Given the description of an element on the screen output the (x, y) to click on. 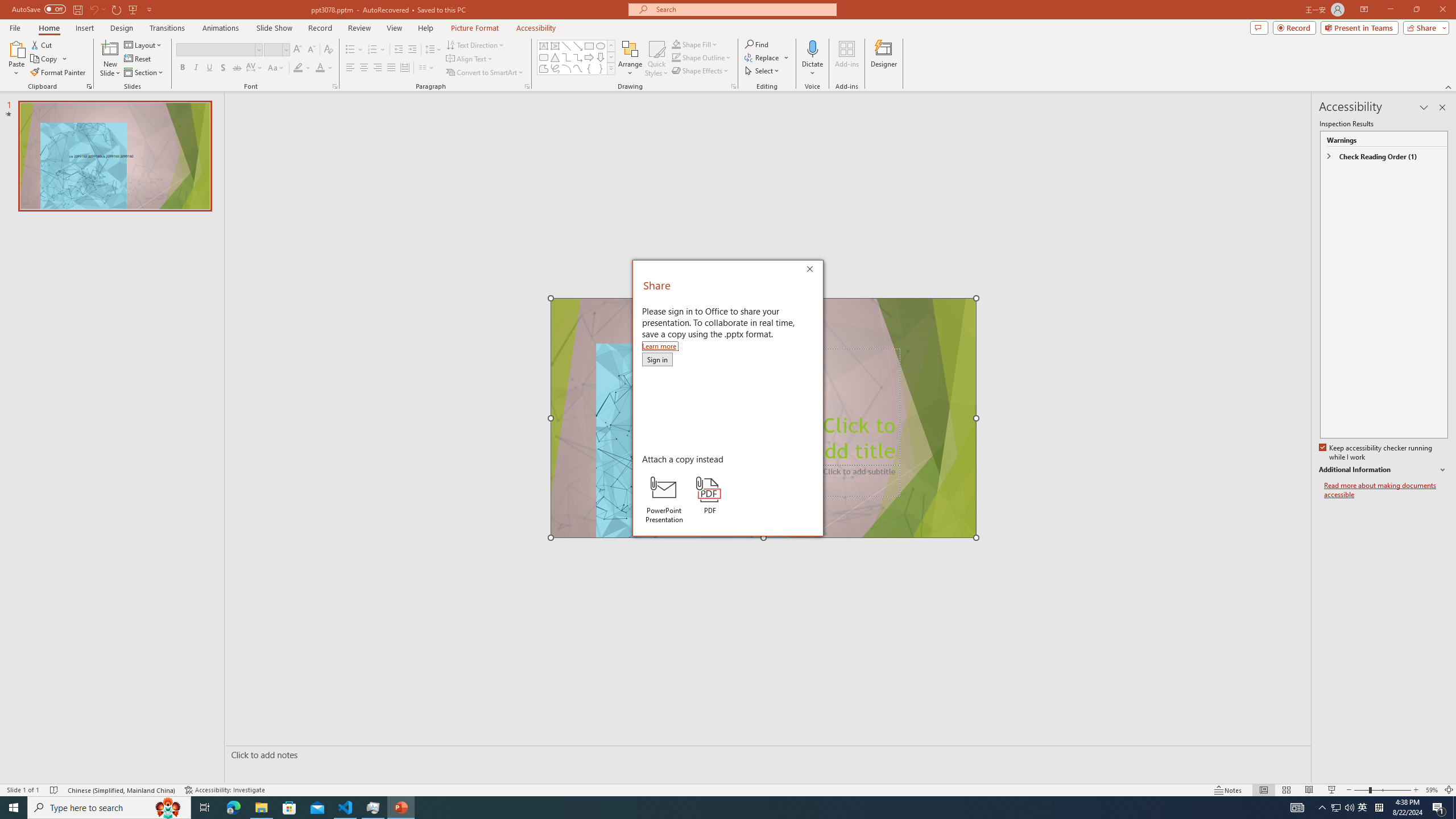
Learn more (660, 345)
PDF (709, 495)
Action Center, 1 new notification (1439, 807)
PowerPoint Presentation (663, 499)
